Given the description of an element on the screen output the (x, y) to click on. 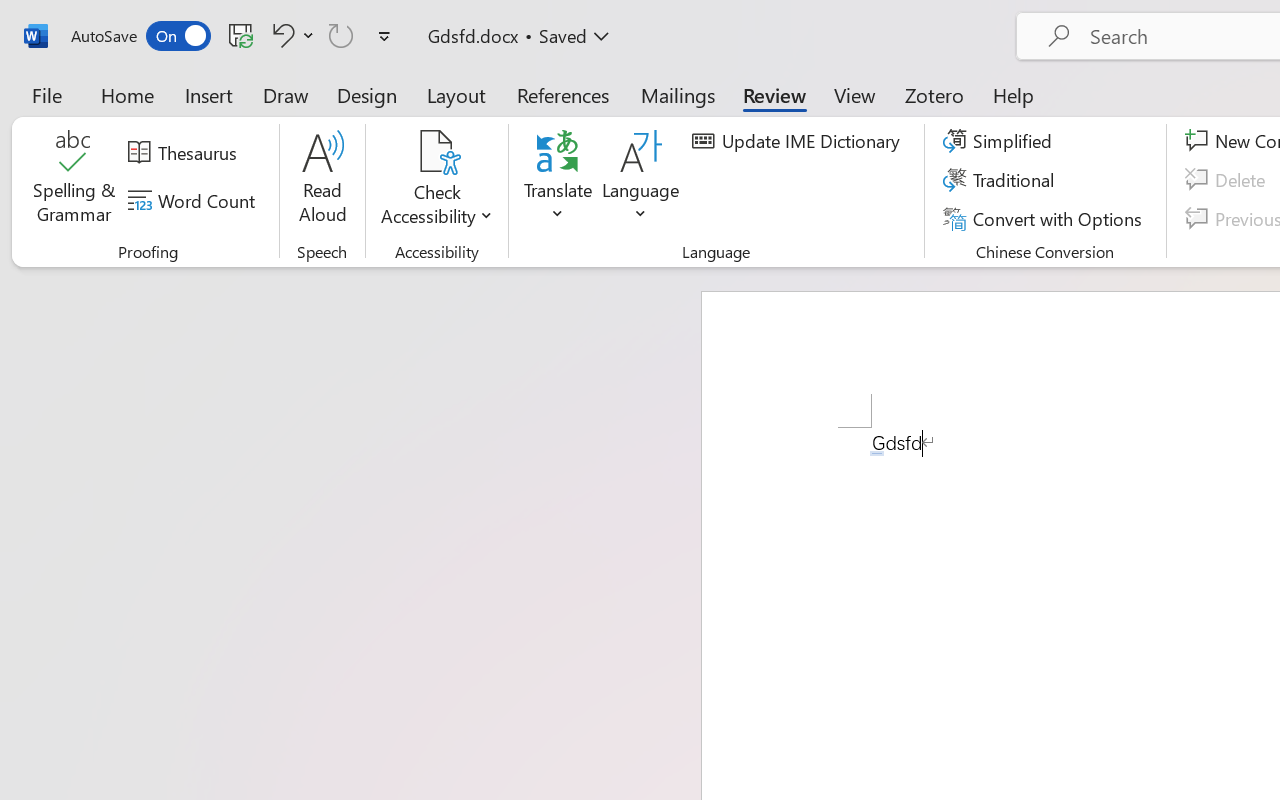
Translate (558, 179)
Undo AutoCorrect (290, 35)
Check Accessibility (436, 151)
Simplified (1000, 141)
